Given the description of an element on the screen output the (x, y) to click on. 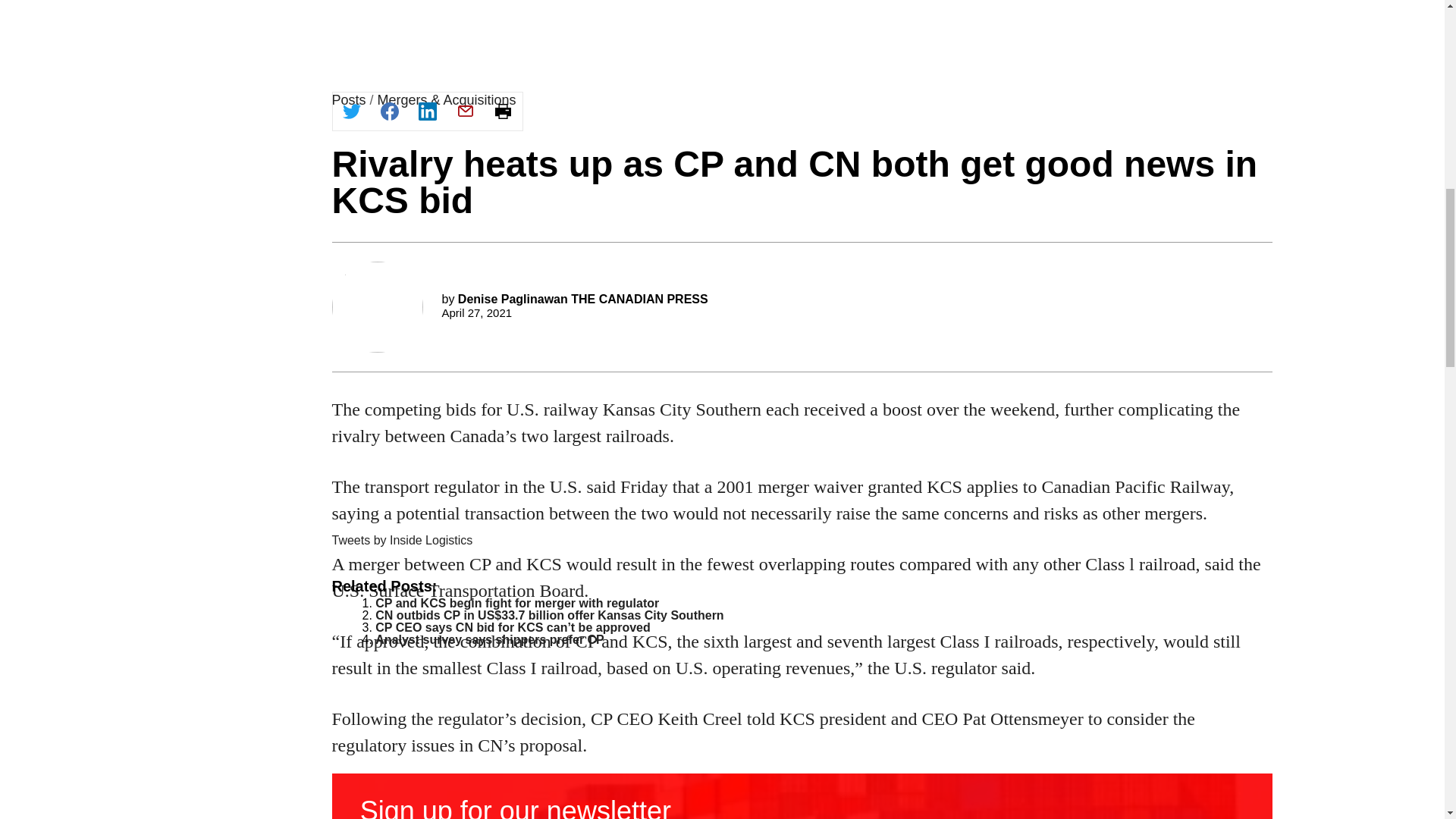
CP and KCS begin fight for merger with regulator (517, 603)
Print page. (502, 111)
Posts (348, 99)
3rd party ad content (801, 186)
Analyst survey says shippers prefer CP (489, 639)
Analyst survey says shippers prefer CP (489, 639)
3rd party ad content (801, 407)
Tweets by Inside Logistics (402, 540)
CP and KCS begin fight for merger with regulator (517, 603)
